Given the description of an element on the screen output the (x, y) to click on. 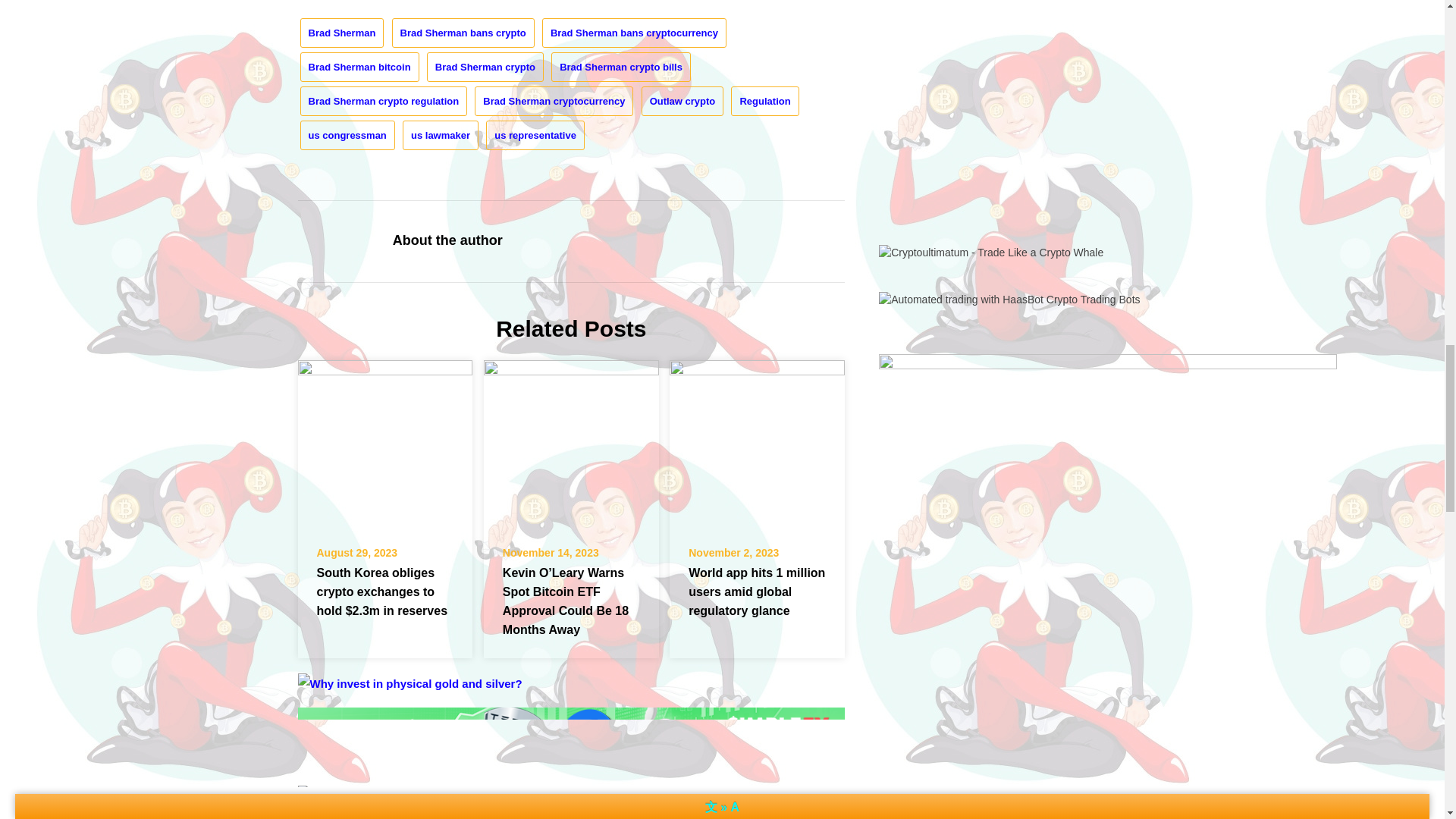
Brad Sherman crypto regulation (383, 101)
us lawmaker (441, 134)
us congressman (346, 134)
Brad Sherman crypto (484, 66)
Cryptoultimatum - Trade Like a Crypto Whale (991, 252)
Outlaw crypto (682, 101)
Brad Sherman bitcoin (359, 66)
Brad Sherman cryptocurrency (553, 101)
Regulation (763, 101)
Brad Sherman crypto bills (620, 66)
Automated trading with HaasBot Crypto Trading Bots (1009, 298)
Brad Sherman bans crypto (462, 32)
World app hits 1 million users amid global regulatory glance (756, 441)
Brad Sherman (341, 32)
Brad Sherman bans cryptocurrency (633, 32)
